Given the description of an element on the screen output the (x, y) to click on. 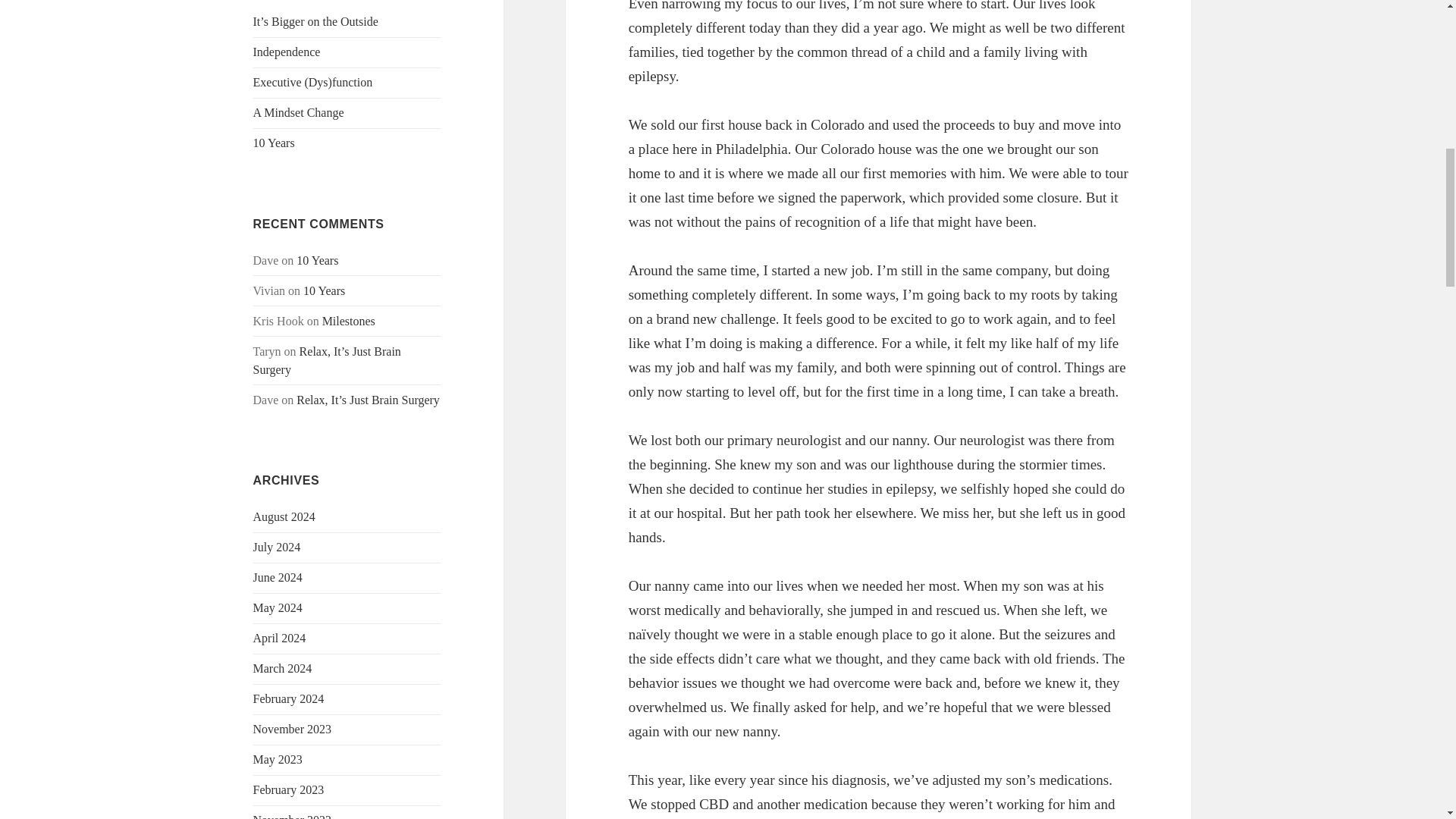
May 2024 (277, 607)
November 2022 (292, 816)
February 2024 (288, 698)
A Mindset Change (298, 112)
Milestones (348, 320)
10 Years (274, 142)
August 2024 (284, 516)
Independence (286, 51)
10 Years (323, 290)
June 2024 (277, 576)
